Given the description of an element on the screen output the (x, y) to click on. 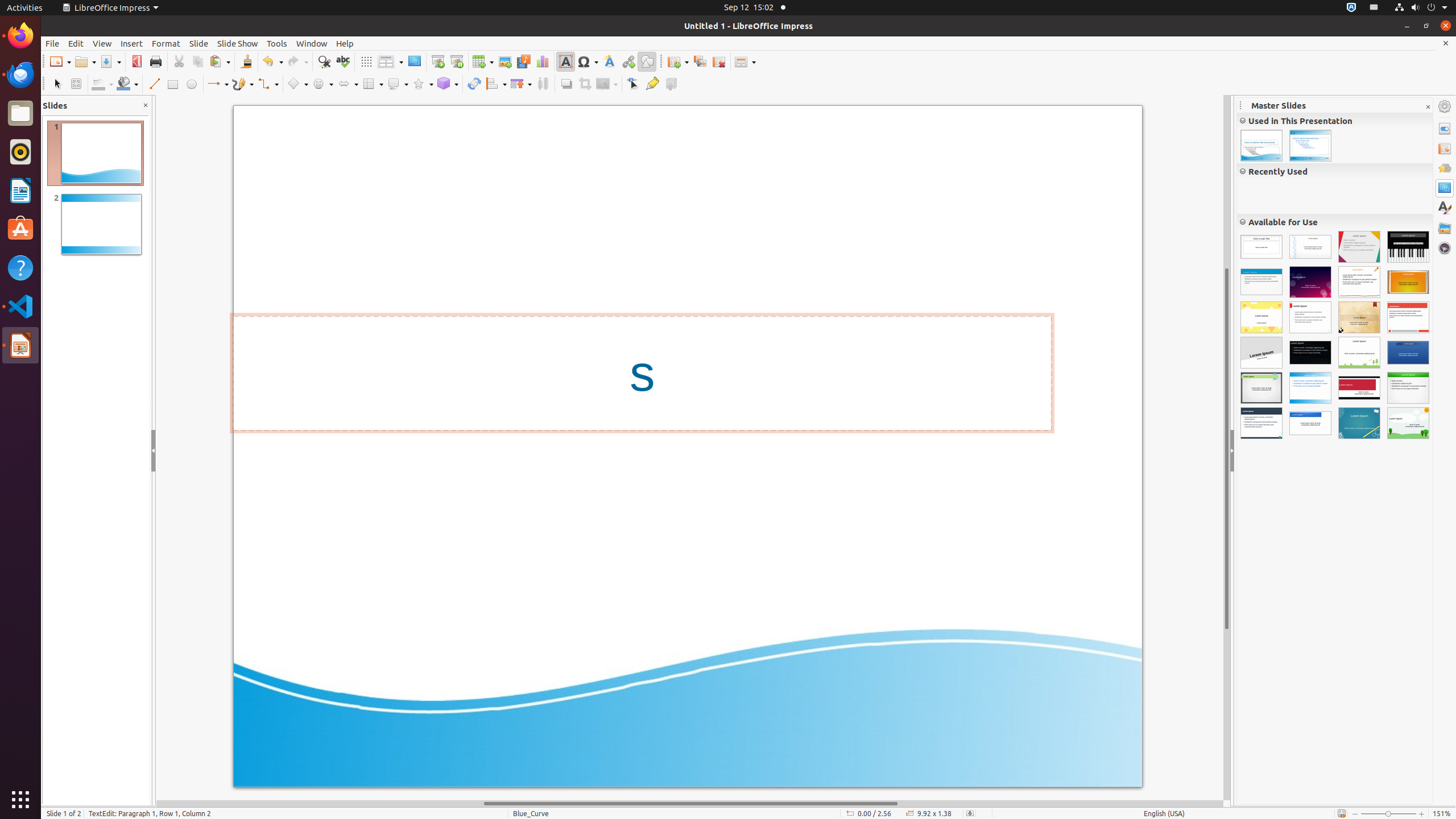
:1.72/StatusNotifierItem Element type: menu (1350, 7)
Navigator Element type: radio-button (1444, 247)
Cut Element type: push-button (178, 61)
Start from First Slide Element type: push-button (437, 61)
Spelling Element type: push-button (342, 61)
